Given the description of an element on the screen output the (x, y) to click on. 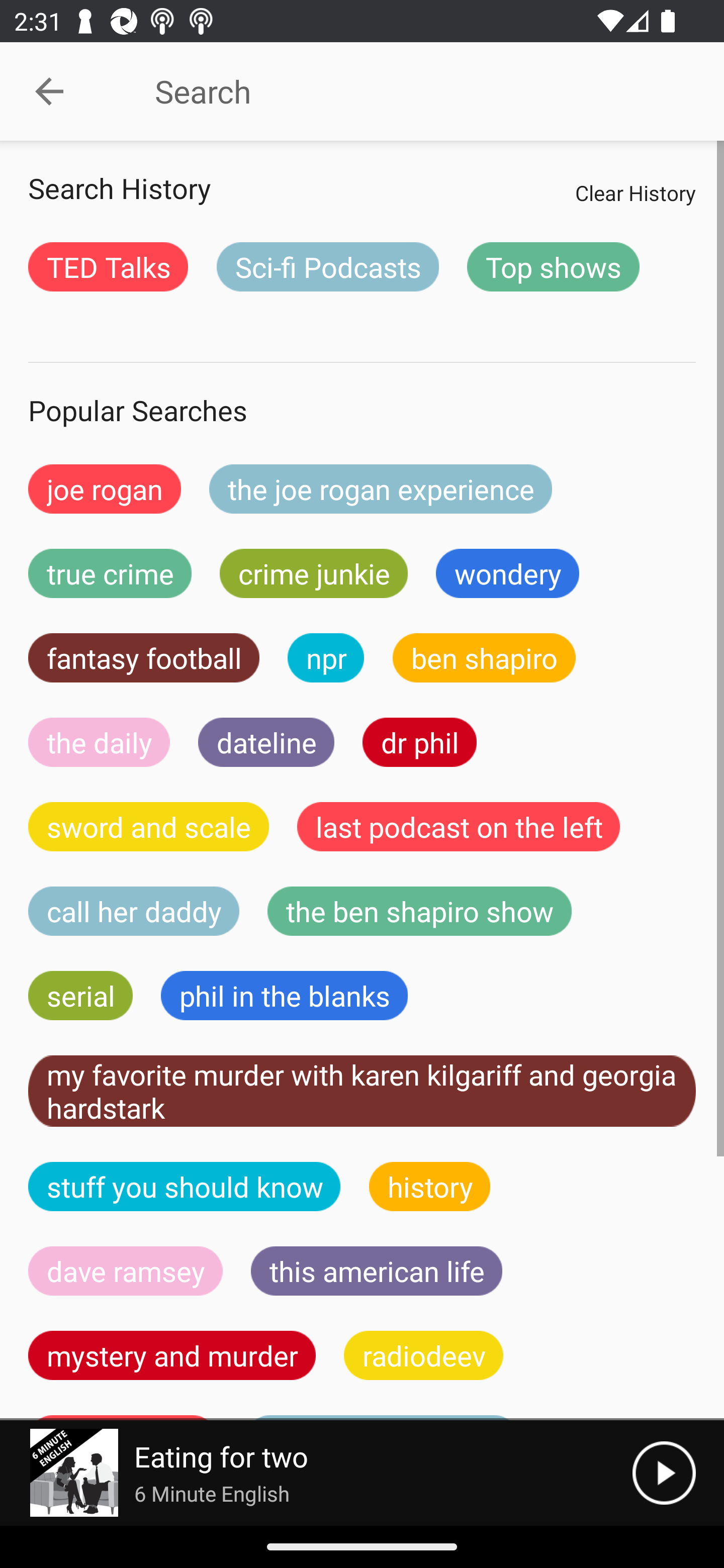
Collapse (49, 91)
Search (407, 91)
Clear History (634, 192)
TED Talks (108, 266)
Sci-fi Podcasts (327, 266)
Top shows (552, 266)
joe rogan (104, 489)
the joe rogan experience (380, 489)
true crime (109, 572)
crime junkie (313, 572)
wondery (507, 572)
fantasy football (143, 657)
npr (325, 657)
ben shapiro (483, 657)
the daily (99, 742)
dateline (266, 742)
dr phil (419, 742)
sword and scale (148, 826)
last podcast on the left (458, 826)
call her daddy (133, 910)
the ben shapiro show (419, 910)
serial (80, 995)
phil in the blanks (283, 995)
stuff you should know (184, 1185)
history (429, 1185)
dave ramsey (125, 1270)
this american life (376, 1270)
mystery and murder (171, 1355)
radiodeev (423, 1355)
Picture Eating for two 6 Minute English (316, 1472)
Play (663, 1472)
